Given the description of an element on the screen output the (x, y) to click on. 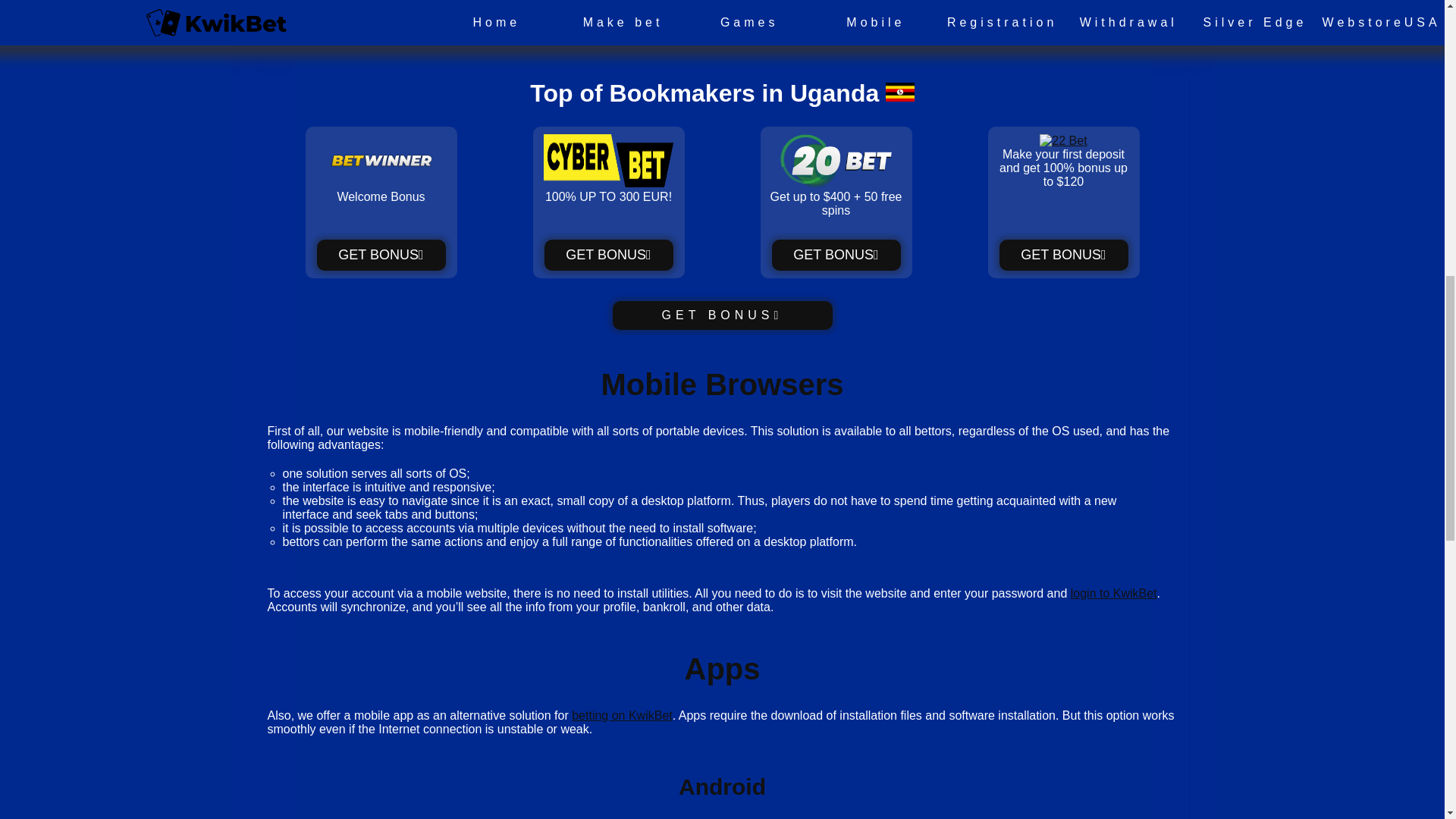
Cyber Bet (608, 255)
20Bet (835, 182)
login to KwikBet (1113, 593)
22Bet (1063, 255)
Betwinner (722, 315)
20Bet (836, 255)
Betwinner (381, 255)
betting on KwikBet (622, 715)
22Bet (1062, 140)
Betwinner (380, 182)
Cyber Bet (607, 182)
